Given the description of an element on the screen output the (x, y) to click on. 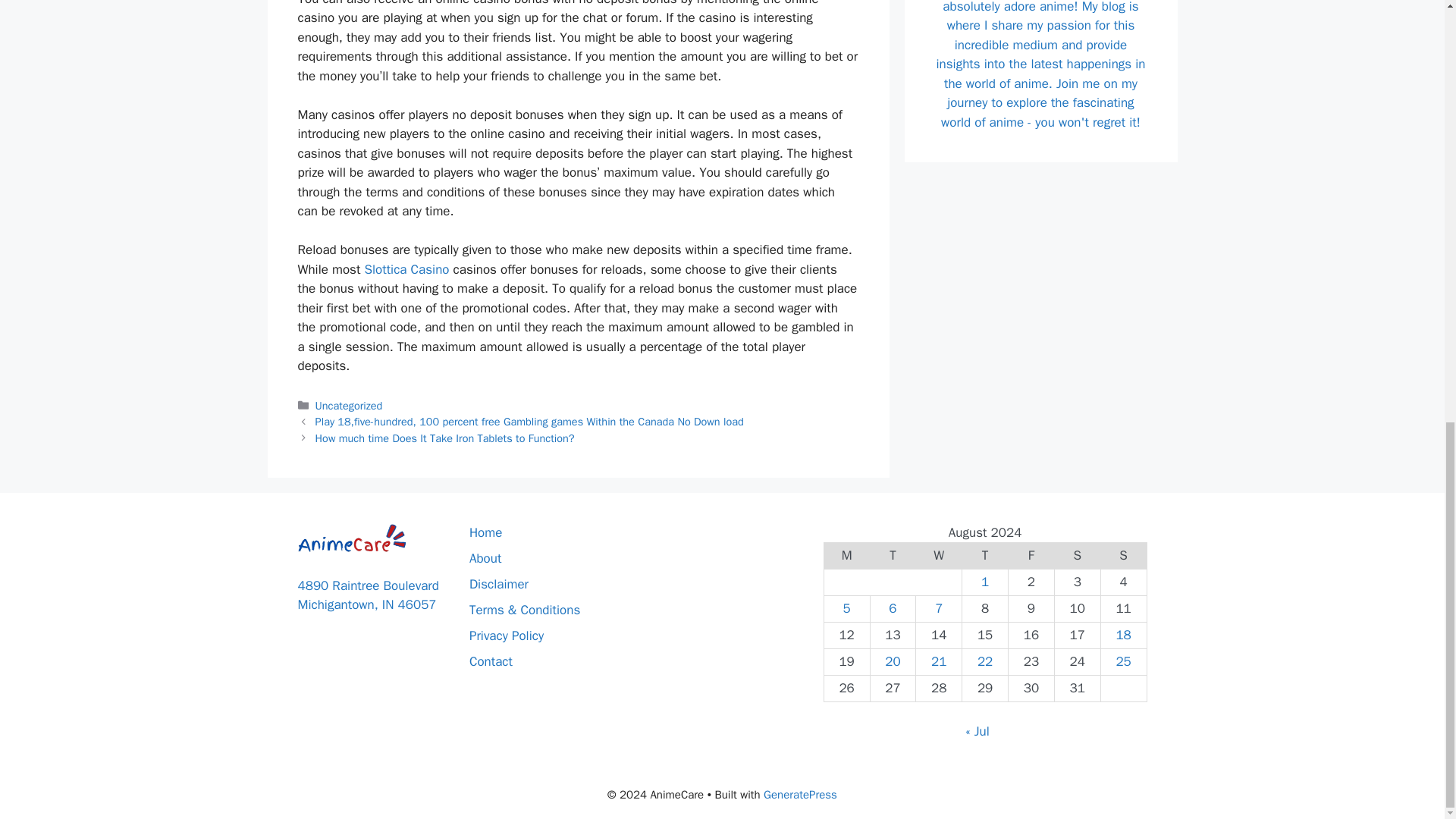
Sunday (1123, 555)
Monday (846, 555)
Wednesday (938, 555)
How much time Does It Take Iron Tablets to Function? (445, 438)
Thursday (985, 555)
Tuesday (892, 555)
Uncategorized (348, 405)
Friday (1031, 555)
